Given the description of an element on the screen output the (x, y) to click on. 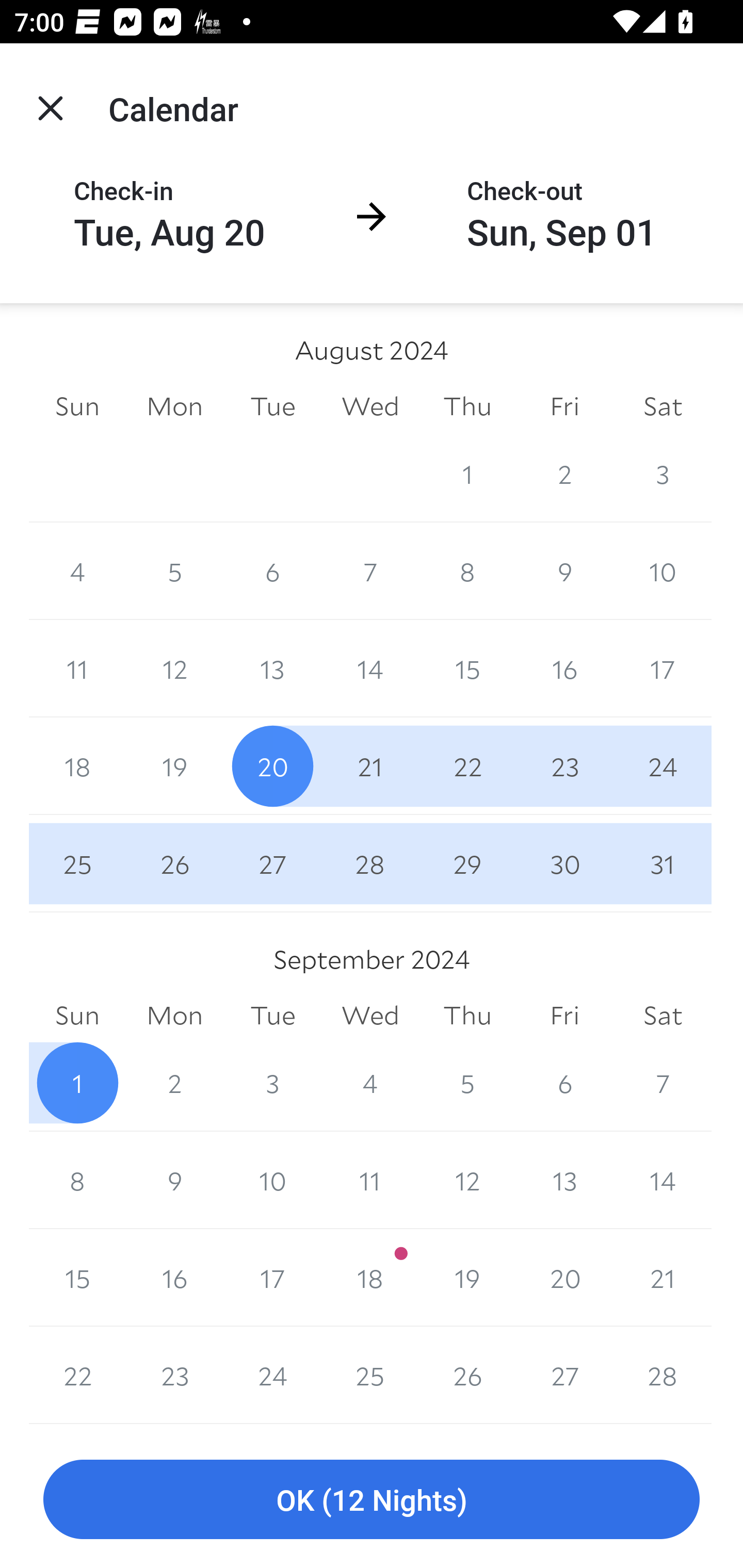
Sun (77, 405)
Mon (174, 405)
Tue (272, 405)
Wed (370, 405)
Thu (467, 405)
Fri (564, 405)
Sat (662, 405)
1 1 August 2024 (467, 473)
2 2 August 2024 (564, 473)
3 3 August 2024 (662, 473)
4 4 August 2024 (77, 570)
5 5 August 2024 (174, 570)
6 6 August 2024 (272, 570)
7 7 August 2024 (370, 570)
8 8 August 2024 (467, 570)
9 9 August 2024 (564, 570)
10 10 August 2024 (662, 570)
11 11 August 2024 (77, 668)
12 12 August 2024 (174, 668)
13 13 August 2024 (272, 668)
14 14 August 2024 (370, 668)
15 15 August 2024 (467, 668)
16 16 August 2024 (564, 668)
17 17 August 2024 (662, 668)
18 18 August 2024 (77, 766)
19 19 August 2024 (174, 766)
20 20 August 2024 (272, 766)
21 21 August 2024 (370, 766)
22 22 August 2024 (467, 766)
23 23 August 2024 (564, 766)
24 24 August 2024 (662, 766)
25 25 August 2024 (77, 863)
26 26 August 2024 (174, 863)
27 27 August 2024 (272, 863)
28 28 August 2024 (370, 863)
29 29 August 2024 (467, 863)
30 30 August 2024 (564, 863)
31 31 August 2024 (662, 863)
Sun (77, 1015)
Mon (174, 1015)
Tue (272, 1015)
Wed (370, 1015)
Thu (467, 1015)
Fri (564, 1015)
Sat (662, 1015)
1 1 September 2024 (77, 1083)
2 2 September 2024 (174, 1083)
3 3 September 2024 (272, 1083)
4 4 September 2024 (370, 1083)
